Given the description of an element on the screen output the (x, y) to click on. 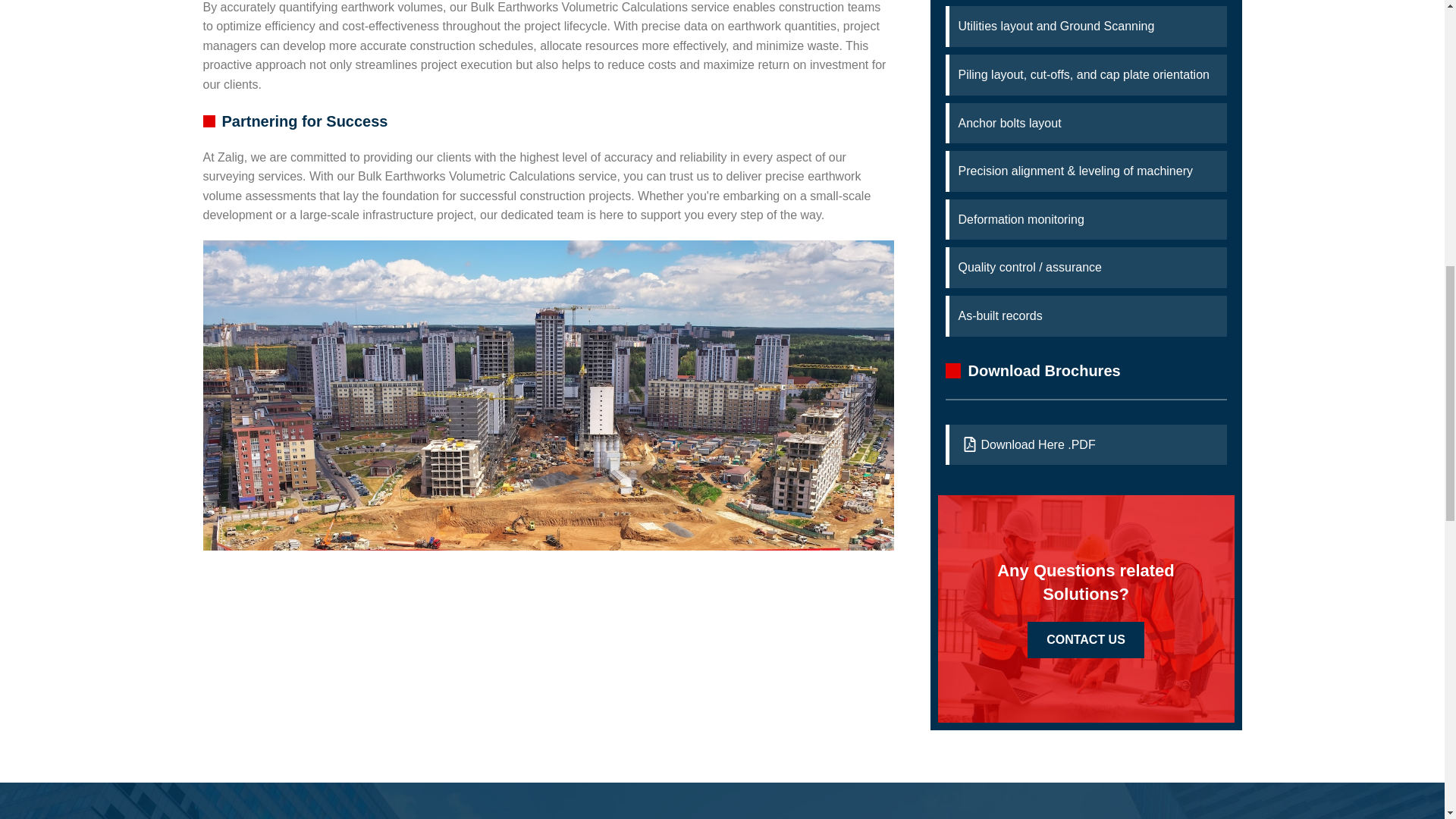
Anchor bolts layout (1087, 123)
Deformation monitoring (1087, 219)
Utilities layout and Ground Scanning (1087, 26)
Piling layout, cut-offs, and cap plate orientation (1087, 75)
